Given the description of an element on the screen output the (x, y) to click on. 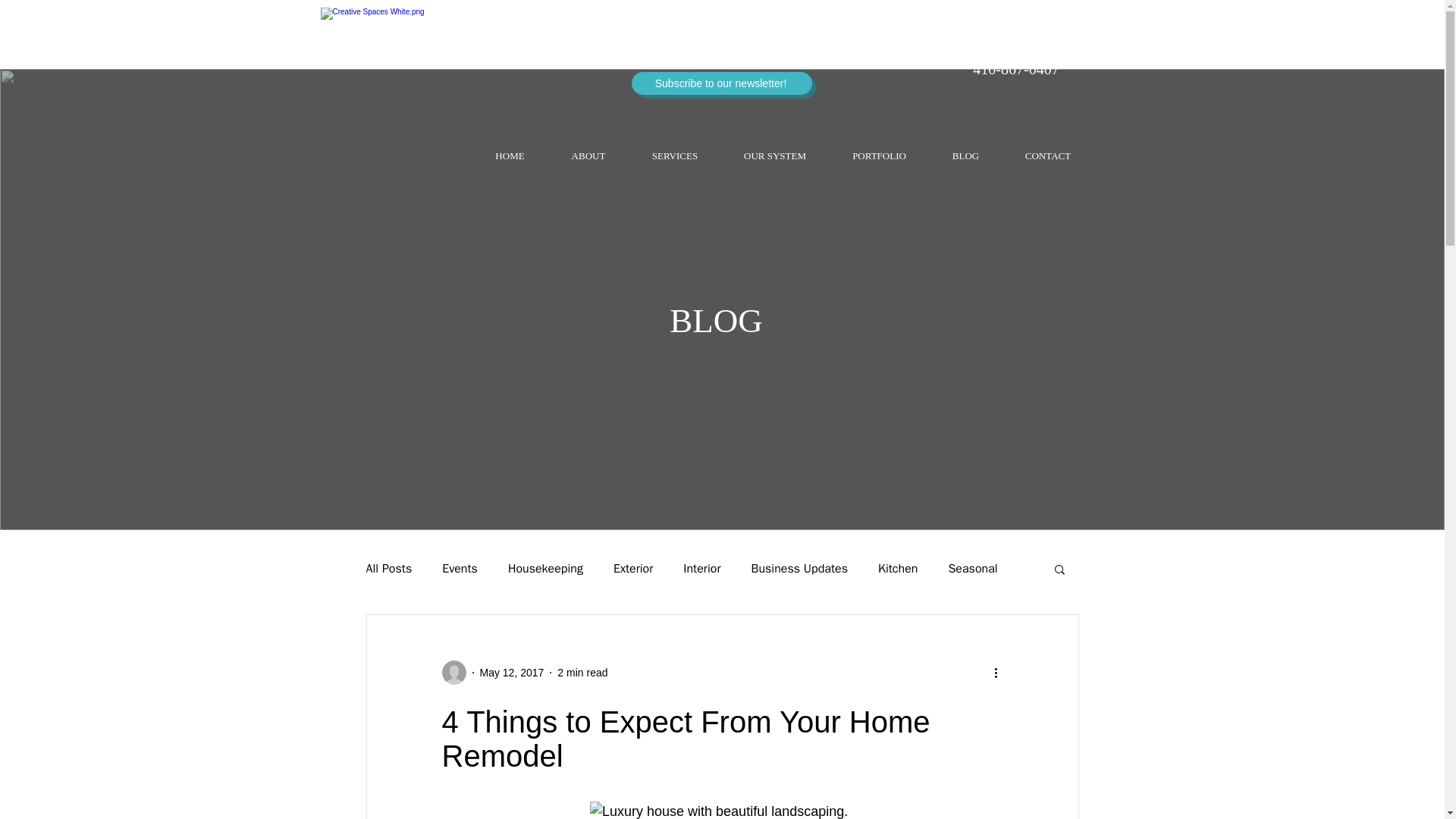
2 min read (582, 671)
Interior (701, 569)
CONTACT (1048, 155)
OUR SYSTEM (774, 155)
All Posts (388, 569)
Housekeeping (545, 569)
Seasonal (972, 569)
SERVICES (674, 155)
Subscribe to our newsletter! (720, 83)
Business Updates (799, 569)
PORTFOLIO (879, 155)
BLOG (966, 155)
HOME (509, 155)
ABOUT (587, 155)
Events (459, 569)
